Given the description of an element on the screen output the (x, y) to click on. 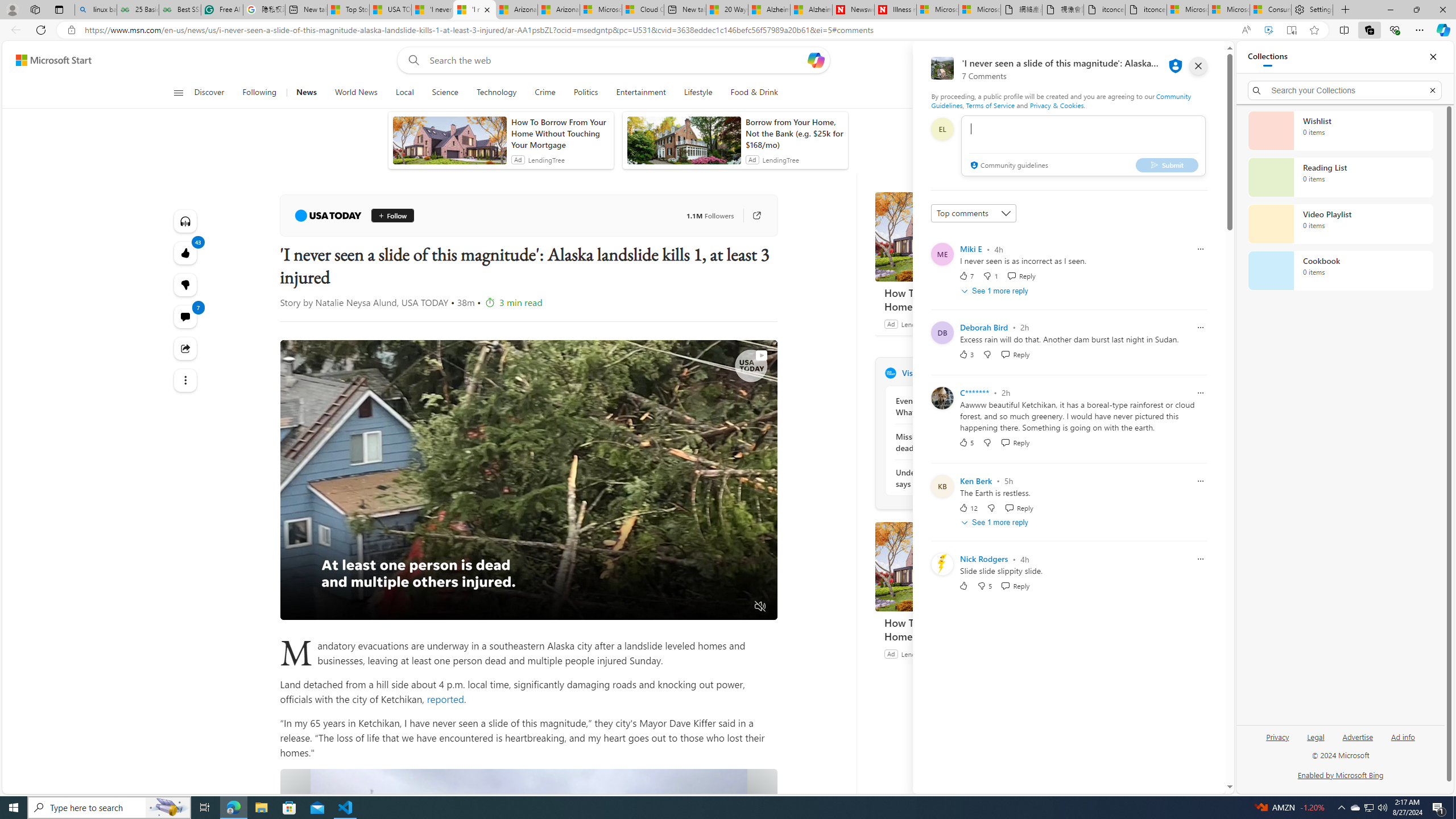
Open navigation menu (177, 92)
Pause (296, 606)
anim-content (683, 144)
Newsweek - News, Analysis, Politics, Business, Technology (853, 9)
Community guidelines (1008, 165)
Seek Back (319, 606)
Consumer Health Data Privacy Policy (1269, 9)
